Given the description of an element on the screen output the (x, y) to click on. 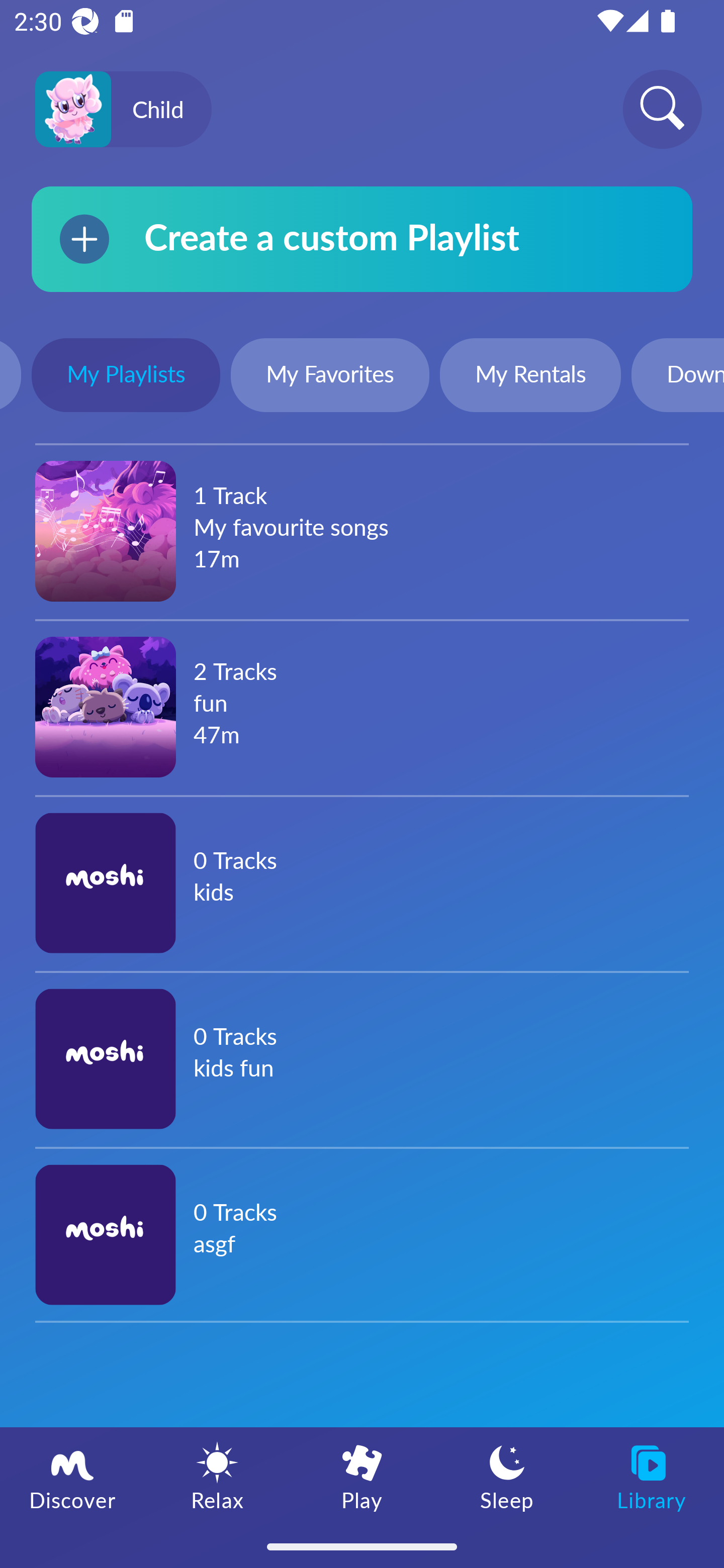
Profile icon Child (123, 109)
Create a custom Playlist (361, 238)
My Playlists (125, 377)
My Favorites (329, 377)
My Rentals (530, 377)
1 Track My favourite songs 17m (362, 531)
2 Tracks fun 47m (362, 706)
0 Tracks kids (362, 882)
0 Tracks kids fun (362, 1058)
0 Tracks asgf (362, 1234)
Discover (72, 1475)
Relax (216, 1475)
Play (361, 1475)
Sleep (506, 1475)
